Given the description of an element on the screen output the (x, y) to click on. 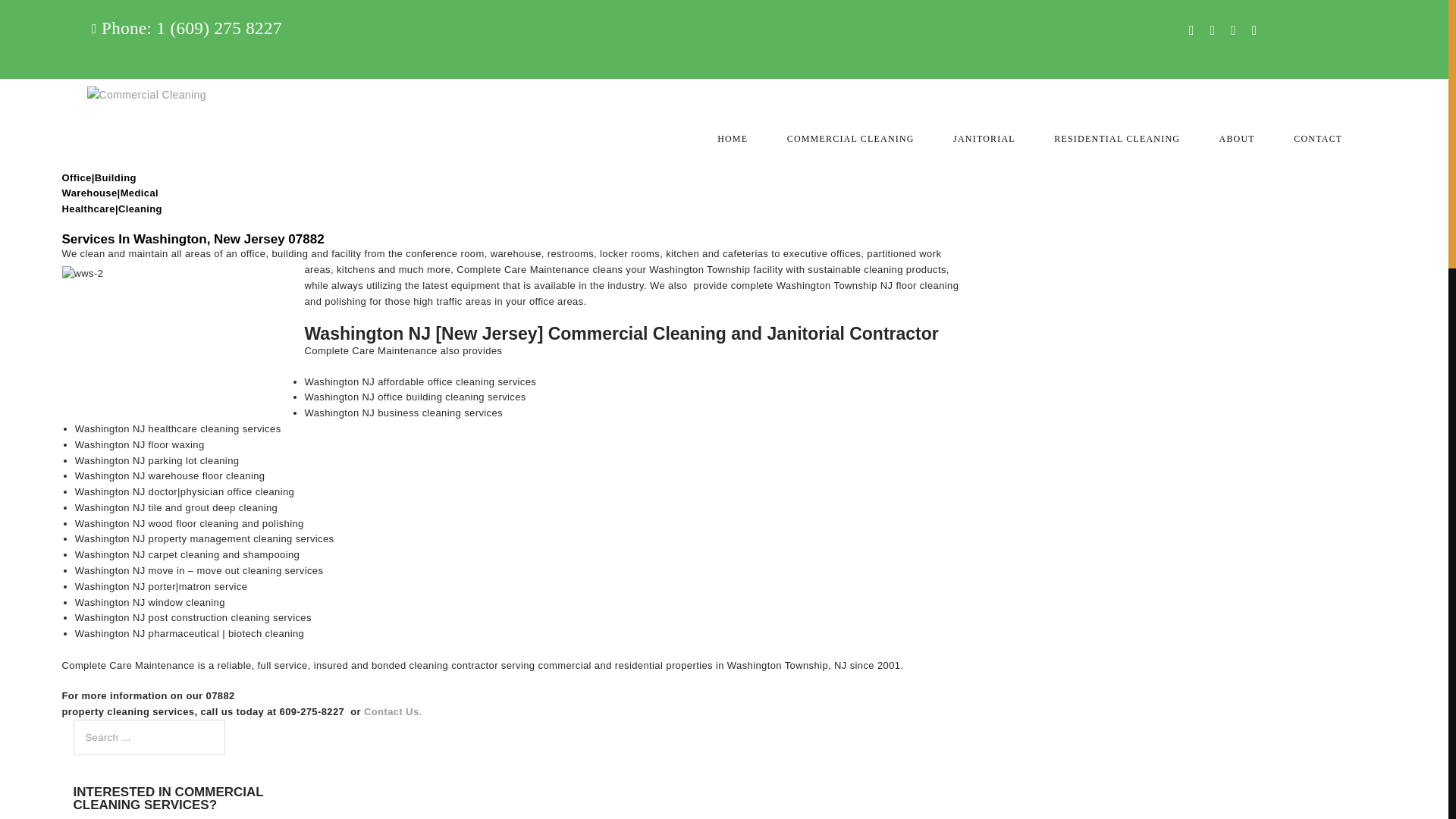
Commercial Cleaning (107, 53)
Janitorial (107, 89)
Residential Cleaning (107, 123)
About (107, 159)
Home (107, 18)
